Given the description of an element on the screen output the (x, y) to click on. 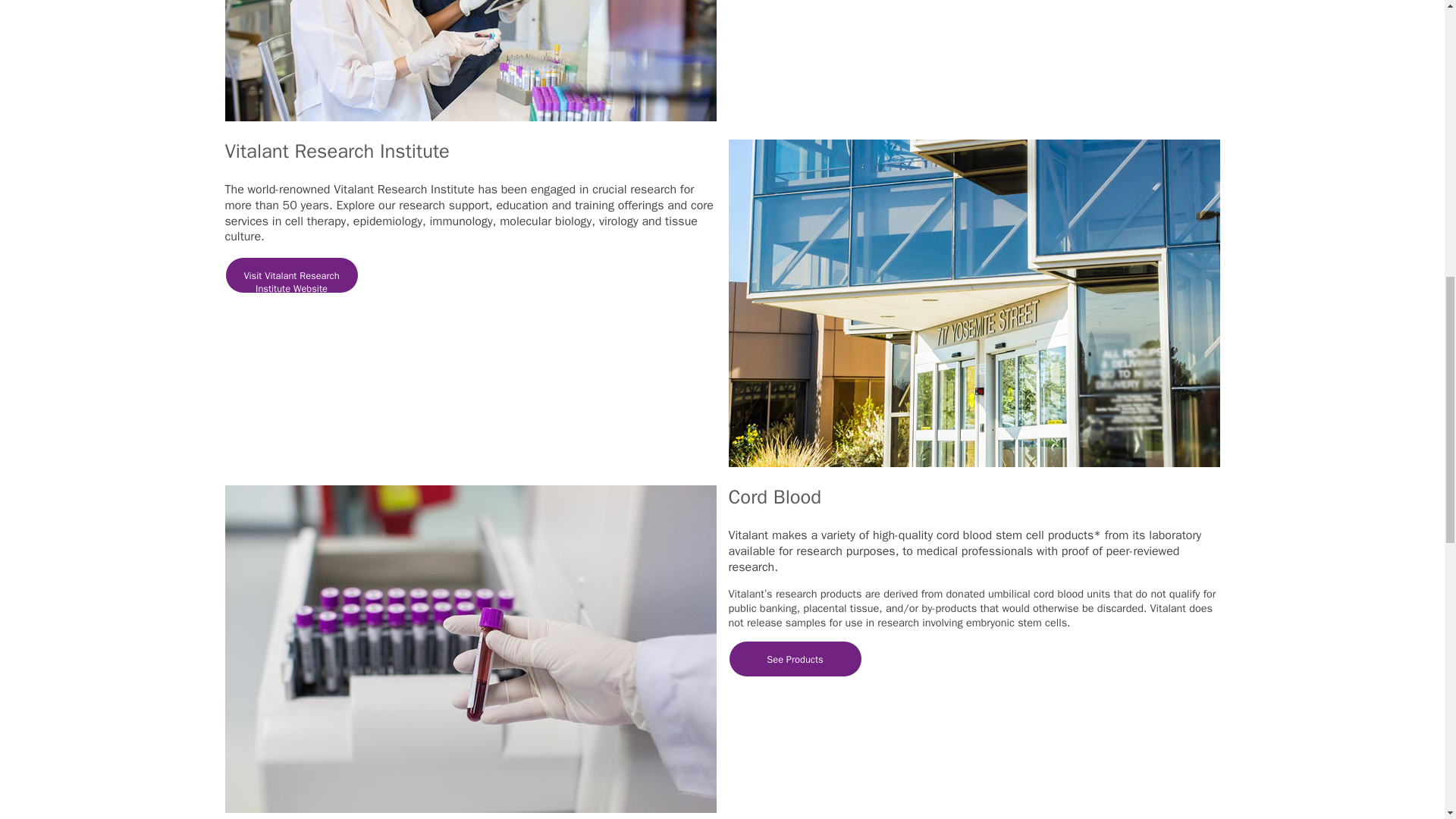
lab-overview.jpg (470, 60)
